Given the description of an element on the screen output the (x, y) to click on. 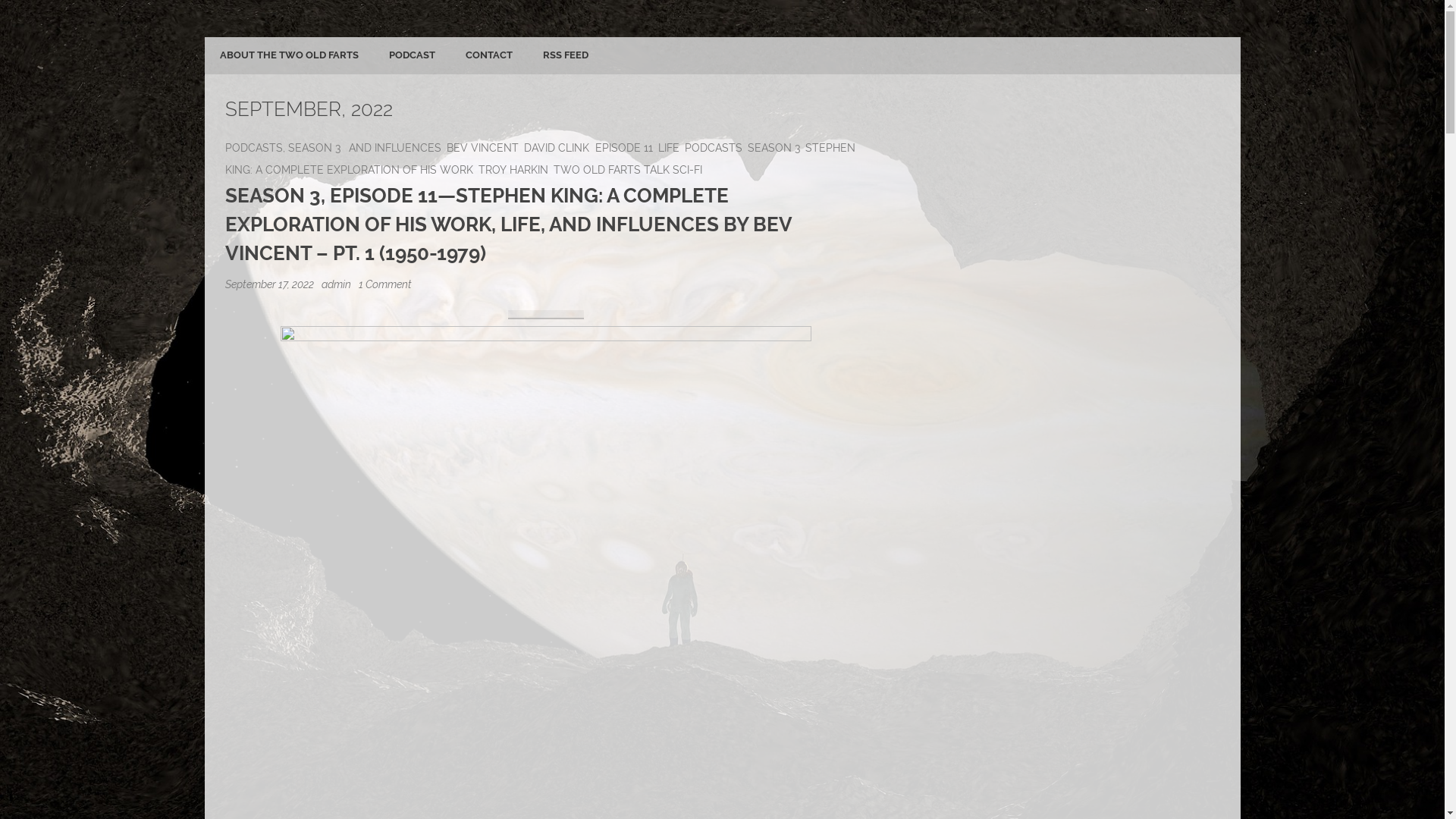
BEV VINCENT Element type: text (482, 147)
PODCAST Element type: text (411, 55)
AND INFLUENCES Element type: text (394, 147)
LIFE Element type: text (668, 147)
admin Element type: text (336, 283)
ABOUT THE TWO OLD FARTS Element type: text (288, 55)
TWO OLD FARTS TALK SCI-FI Element type: text (627, 169)
STEPHEN KING: A COMPLETE EXPLORATION OF HIS WORK Element type: text (540, 158)
EPISODE 11 Element type: text (623, 147)
PODCASTS Element type: text (713, 147)
CONTACT Element type: text (488, 55)
DAVID CLINK Element type: text (556, 147)
TROY HARKIN Element type: text (513, 169)
PODCASTS, SEASON 3 Element type: text (282, 147)
SEASON 3 Element type: text (773, 147)
September 17, 2022 Element type: text (270, 283)
RSS FEED Element type: text (565, 55)
